Given the description of an element on the screen output the (x, y) to click on. 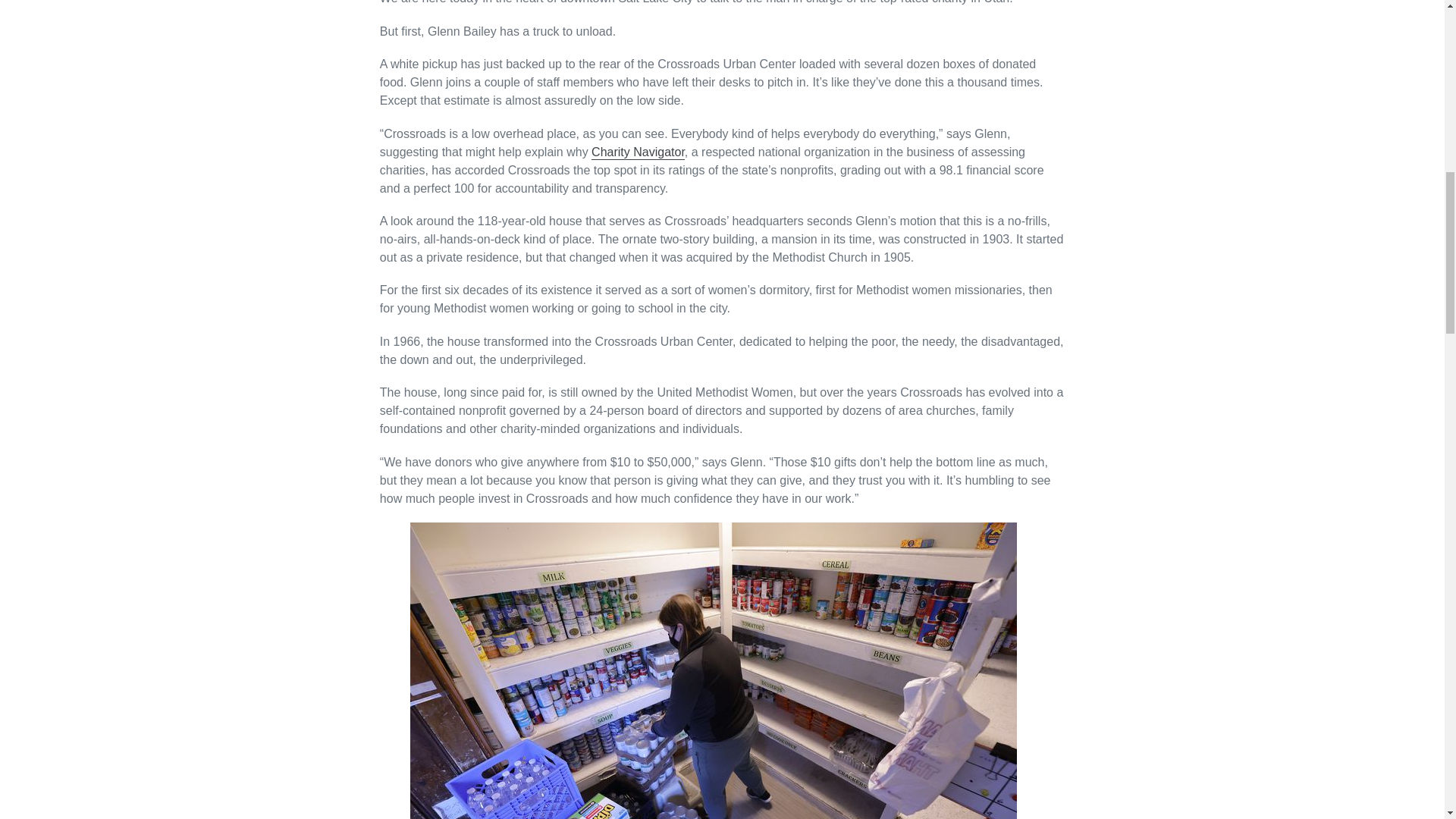
Charity Navigator (637, 152)
